Given the description of an element on the screen output the (x, y) to click on. 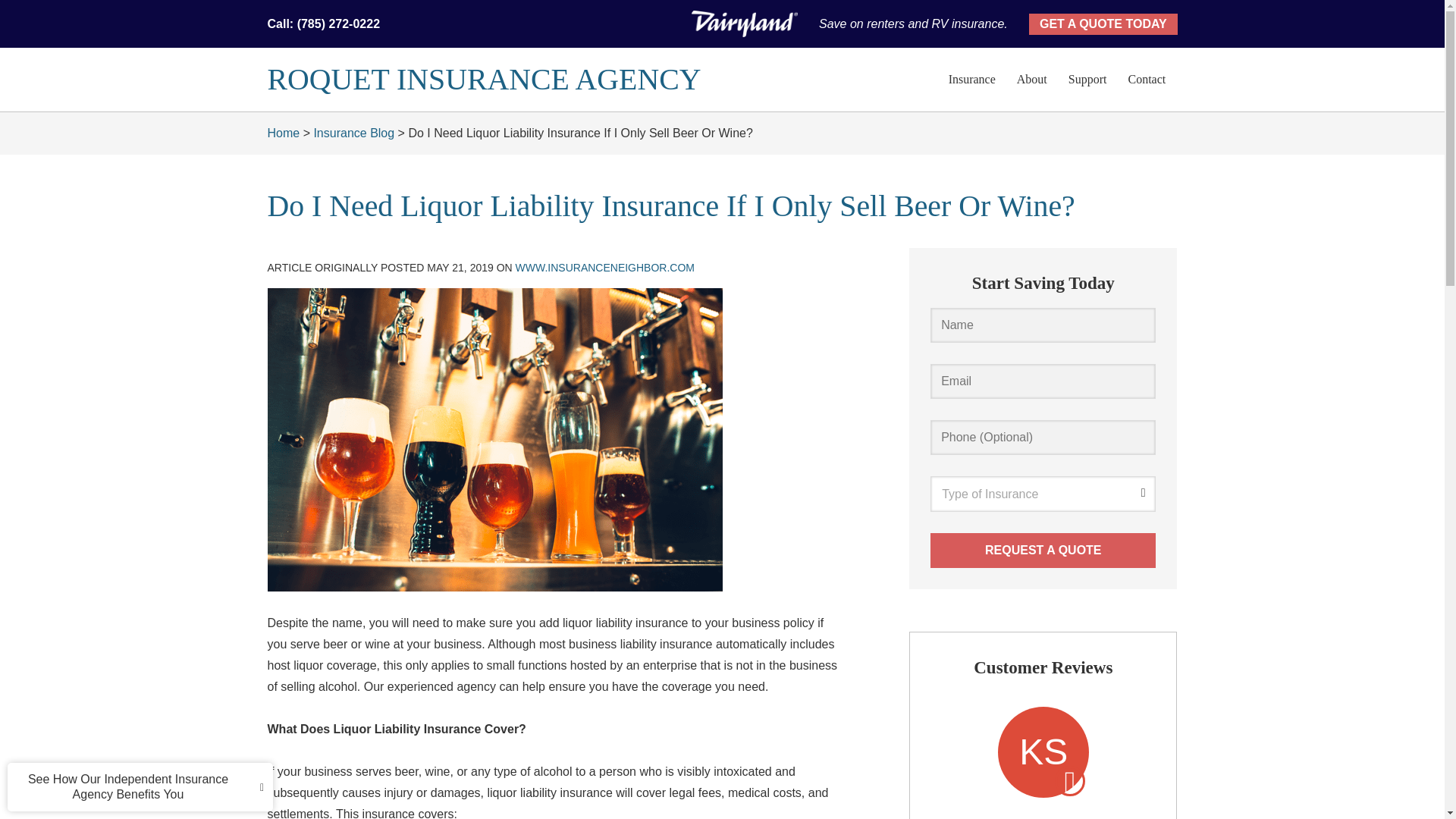
Request a Quote (1043, 550)
Home Page (527, 79)
Support (1088, 79)
About (1032, 79)
Contact (1146, 79)
Insurance (971, 79)
Dairyland-Logo (744, 23)
